Given the description of an element on the screen output the (x, y) to click on. 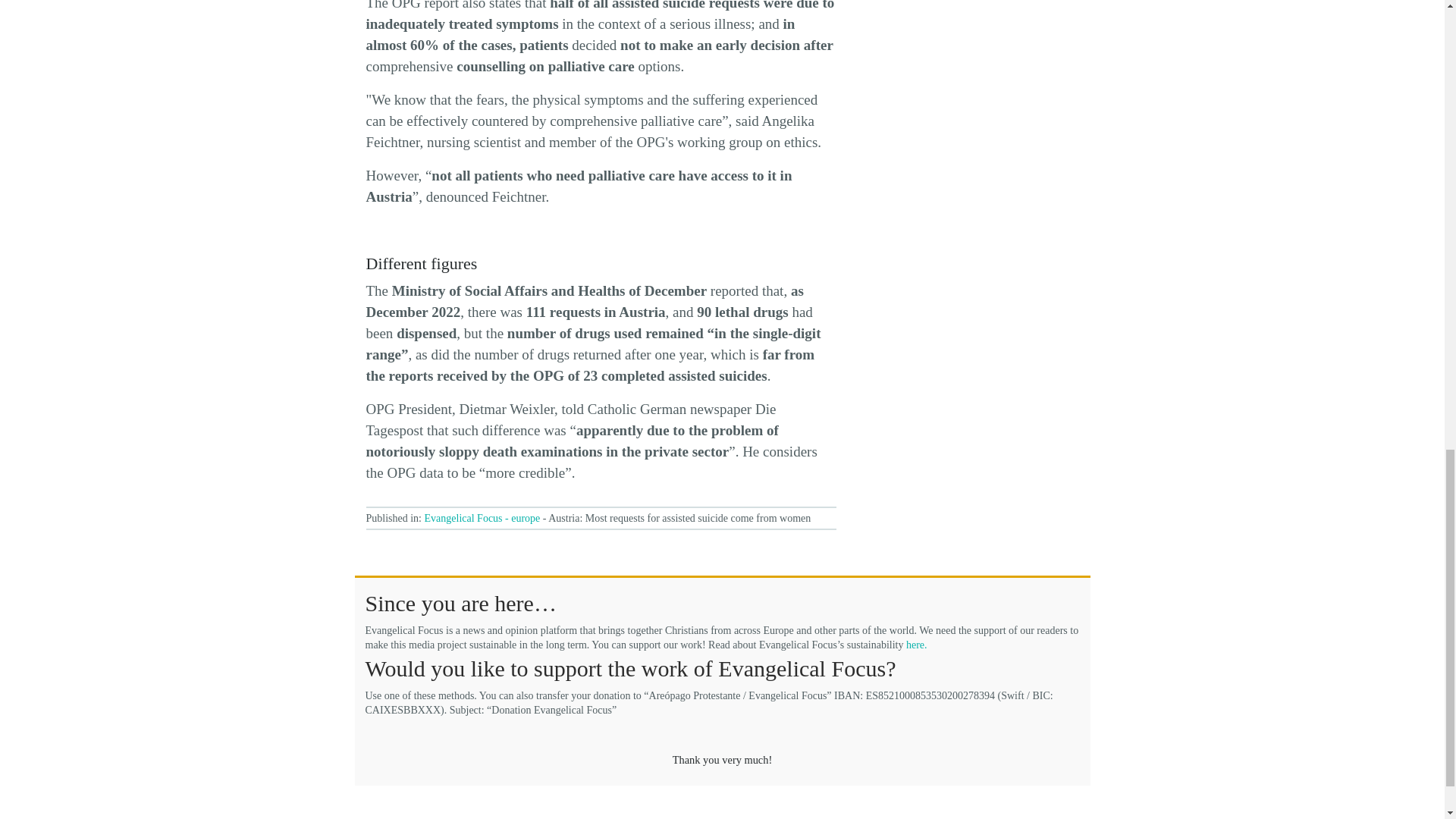
Evangelical Focus (463, 518)
here. (916, 644)
europe (525, 518)
